Given the description of an element on the screen output the (x, y) to click on. 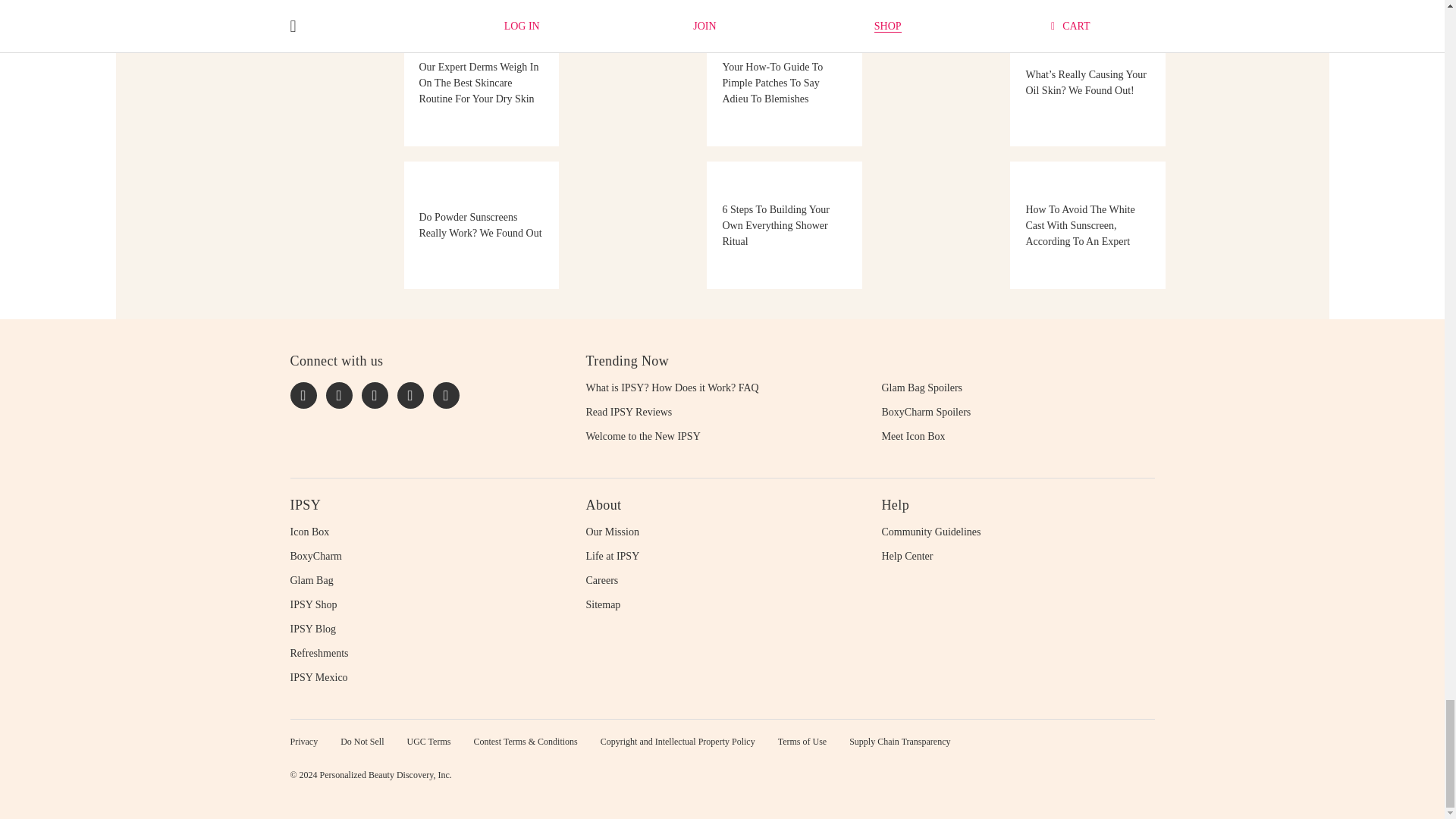
6 Steps To Building Your Own Everything Shower Ritual (720, 225)
Do Powder Sunscreens Really Work? We Found Out (419, 225)
